Given the description of an element on the screen output the (x, y) to click on. 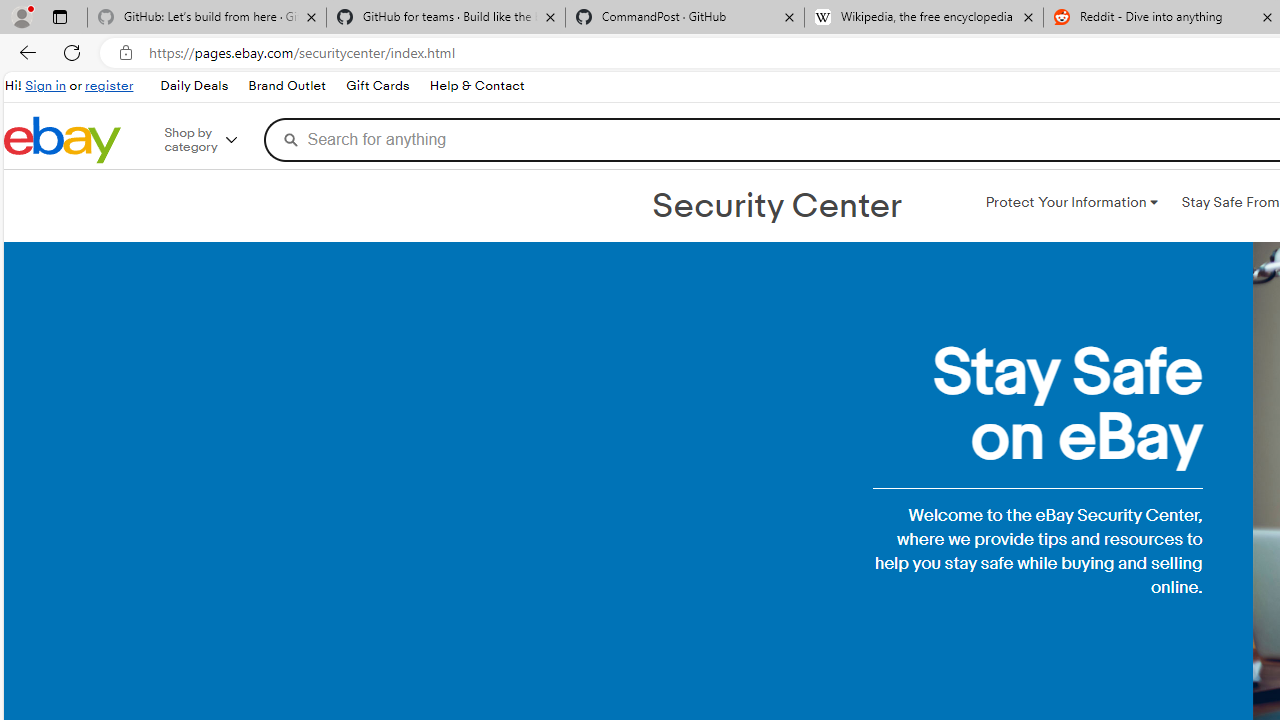
eBay Home (62, 139)
Daily Deals (194, 86)
Gift Cards (376, 85)
Sign in (45, 85)
register (109, 85)
Help & Contact (476, 86)
Security Center (776, 206)
Shop by category (213, 140)
eBay Home (62, 139)
